Given the description of an element on the screen output the (x, y) to click on. 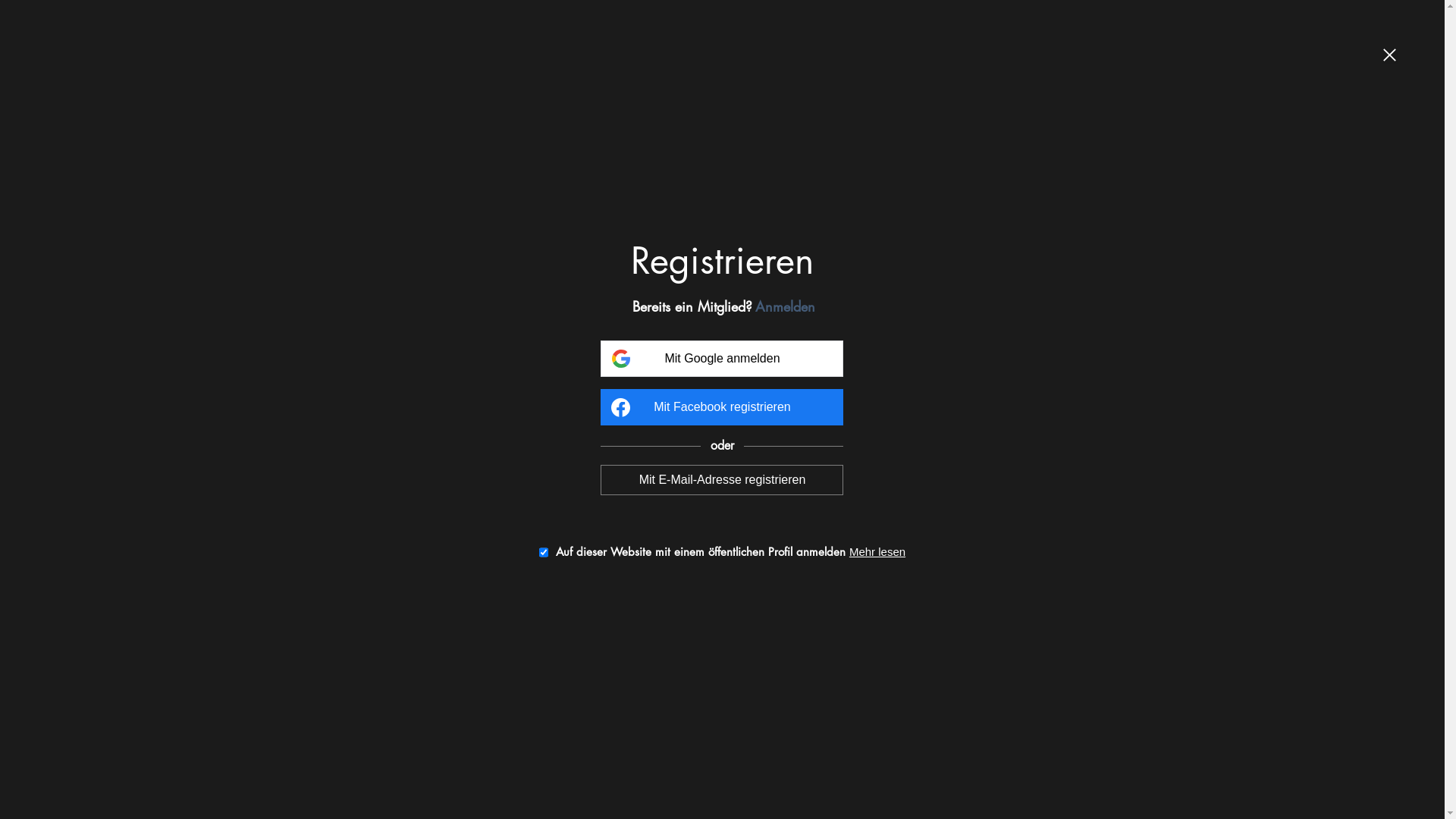
Mit Facebook registrieren Element type: text (721, 407)
Mit Google anmelden Element type: text (721, 358)
Anmelden Element type: text (792, 306)
Mit E-Mail-Adresse registrieren Element type: text (721, 479)
Mehr lesen Element type: text (889, 551)
